Given the description of an element on the screen output the (x, y) to click on. 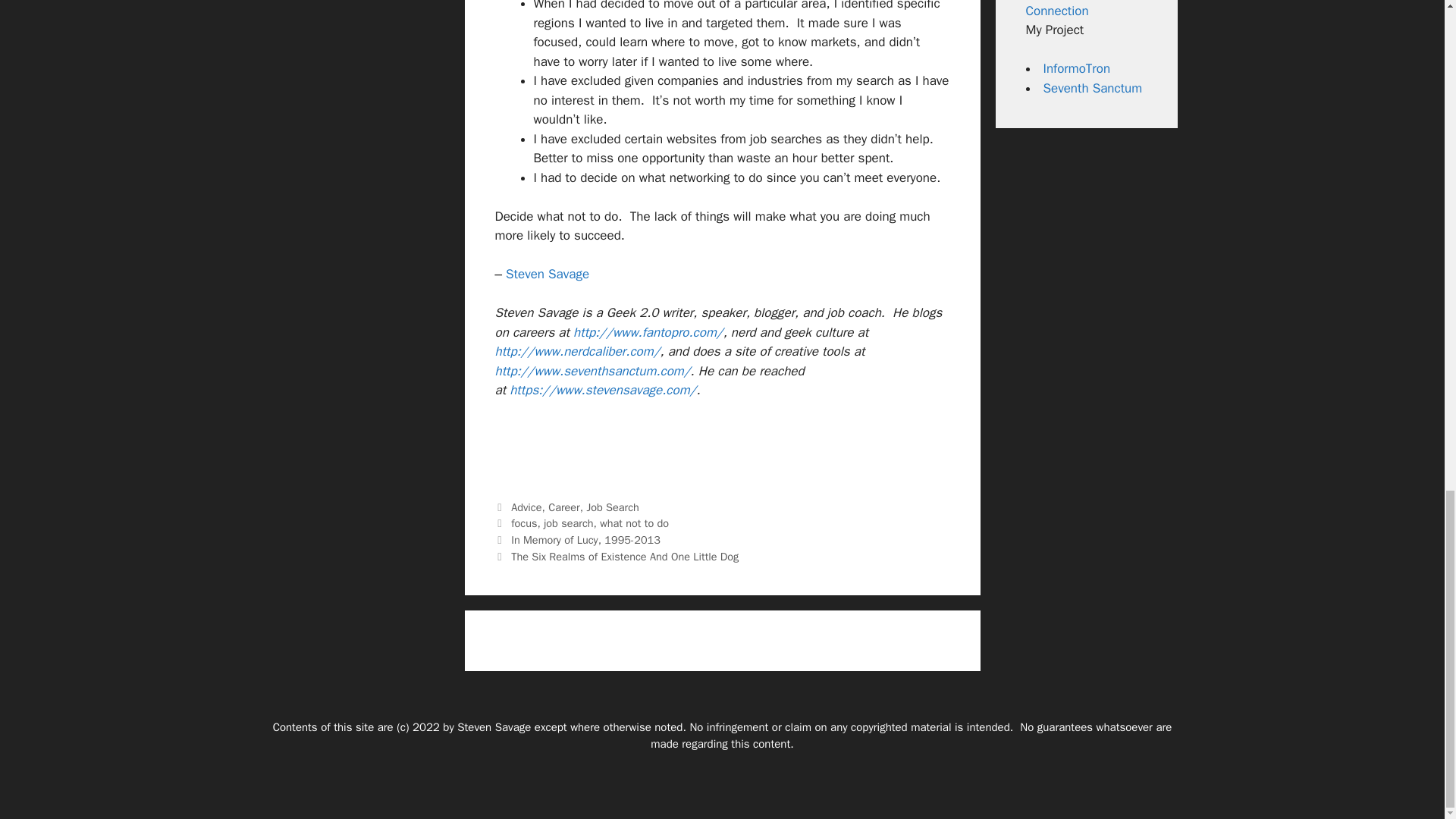
The Six Realms of Existence And One Little Dog (624, 556)
focus (524, 522)
Steven Savage (547, 273)
what not to do (633, 522)
Scroll back to top (1406, 301)
Advice (526, 507)
Career (563, 507)
Job Search (612, 507)
In Memory of Lucy, 1995-2013 (586, 540)
job search (567, 522)
